Given the description of an element on the screen output the (x, y) to click on. 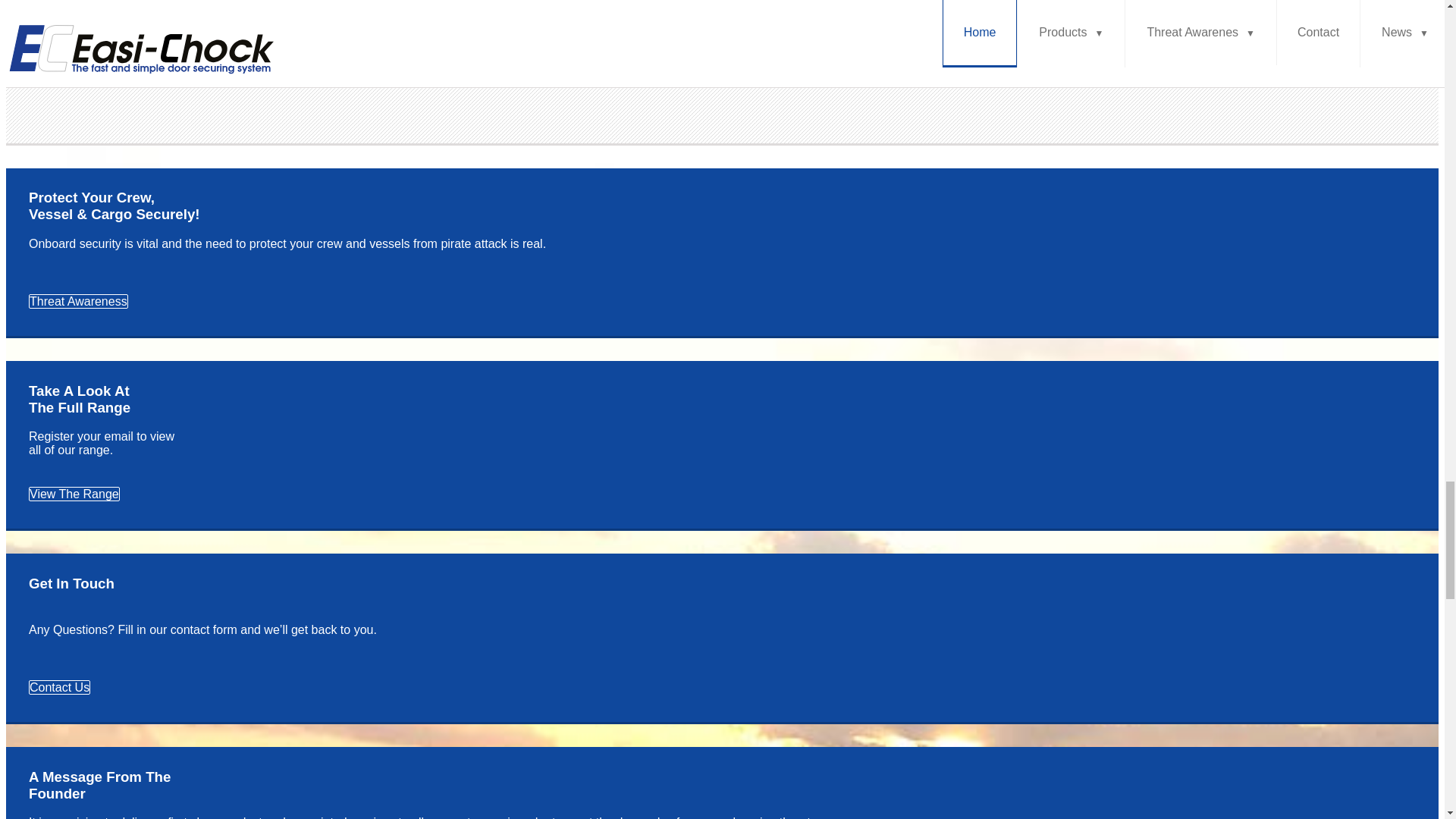
Threat Awareness (78, 301)
Contact Us (59, 687)
View The Range (74, 493)
